Given the description of an element on the screen output the (x, y) to click on. 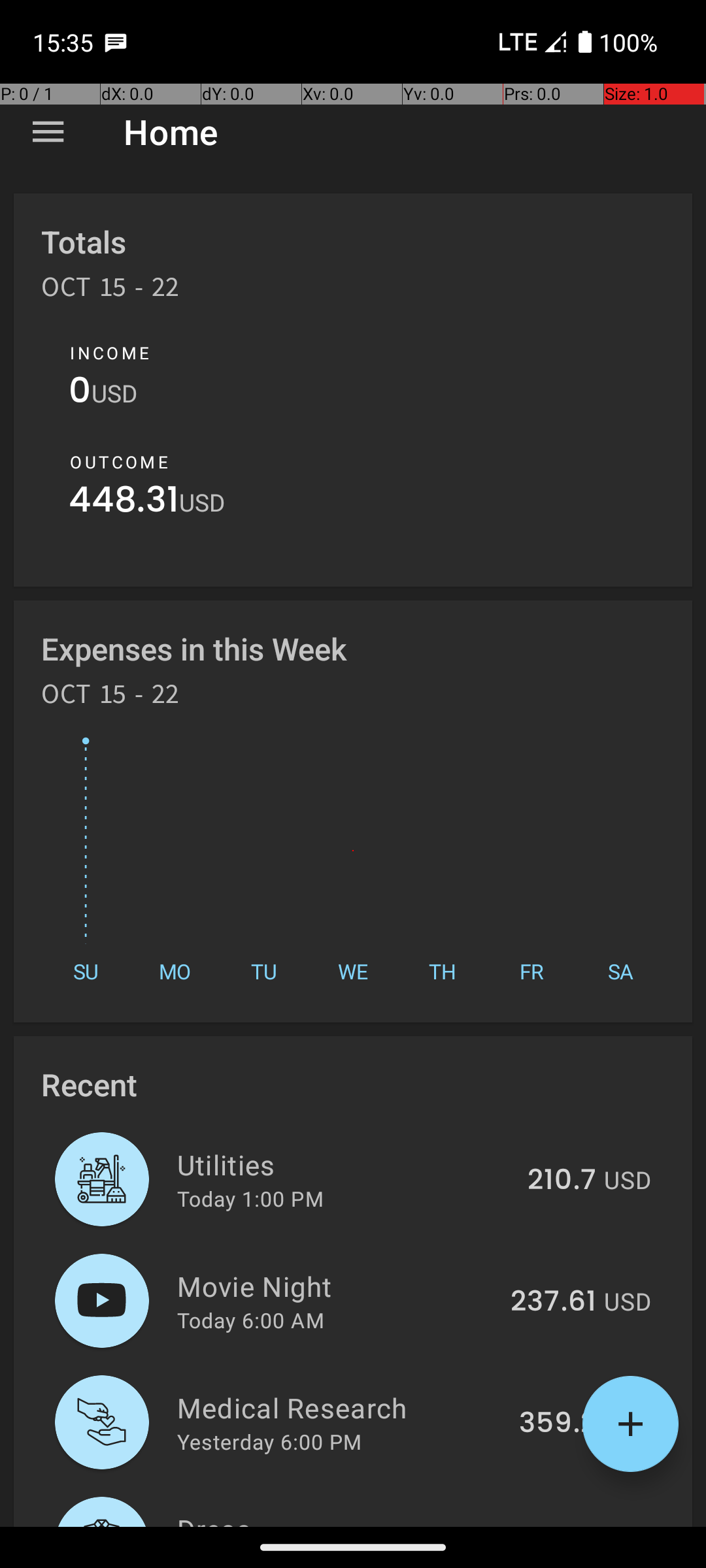
448.31 Element type: android.widget.TextView (123, 502)
Utilities Element type: android.widget.TextView (344, 1164)
Today 1:00 PM Element type: android.widget.TextView (250, 1198)
210.7 Element type: android.widget.TextView (561, 1180)
Movie Night Element type: android.widget.TextView (336, 1285)
Today 6:00 AM Element type: android.widget.TextView (250, 1320)
237.61 Element type: android.widget.TextView (552, 1301)
Medical Research Element type: android.widget.TextView (340, 1407)
Yesterday 6:00 PM Element type: android.widget.TextView (269, 1441)
359.2 Element type: android.widget.TextView (557, 1423)
Dress Element type: android.widget.TextView (335, 1518)
321.86 Element type: android.widget.TextView (551, 1524)
